Given the description of an element on the screen output the (x, y) to click on. 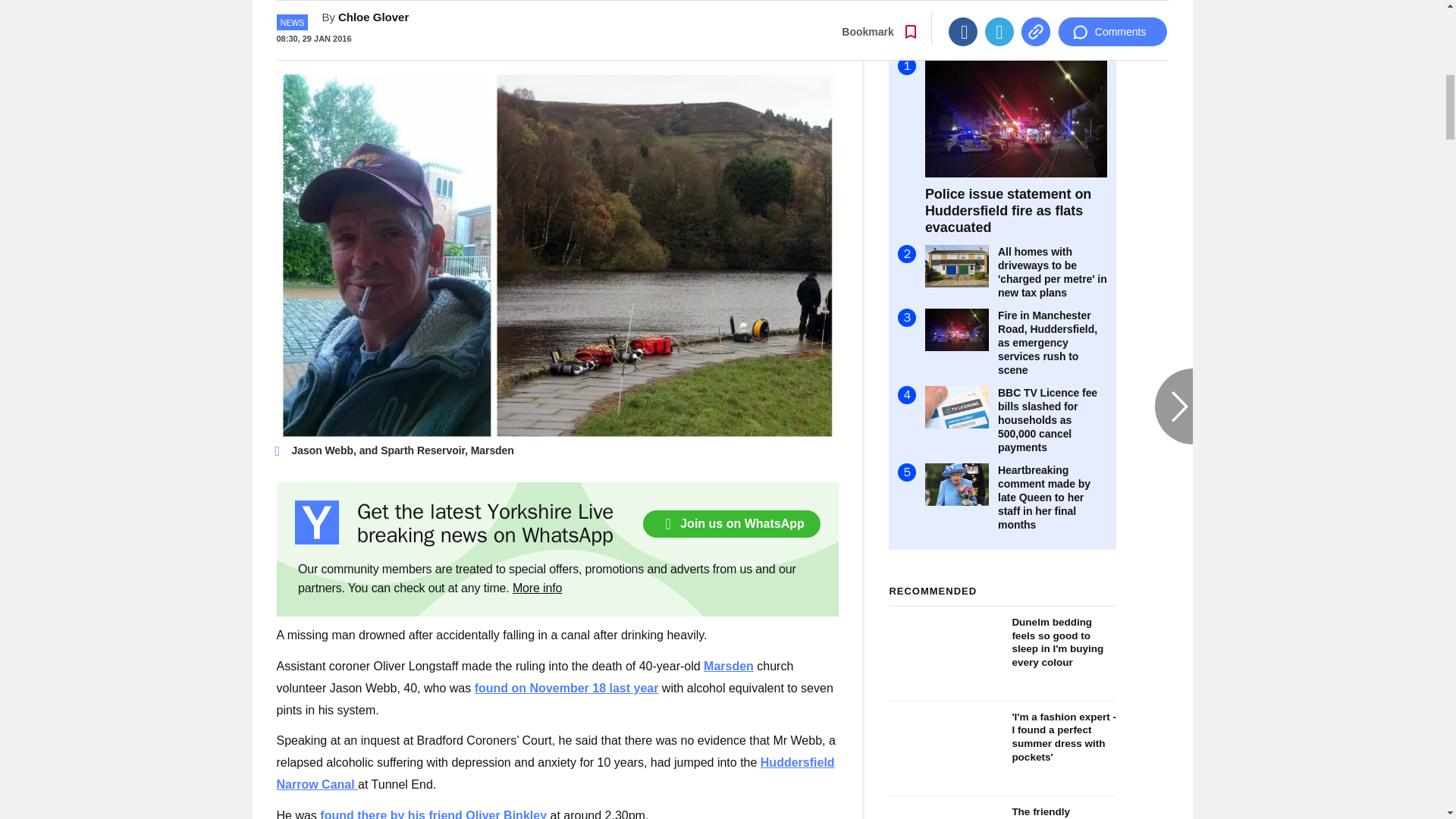
Go (730, 34)
